Given the description of an element on the screen output the (x, y) to click on. 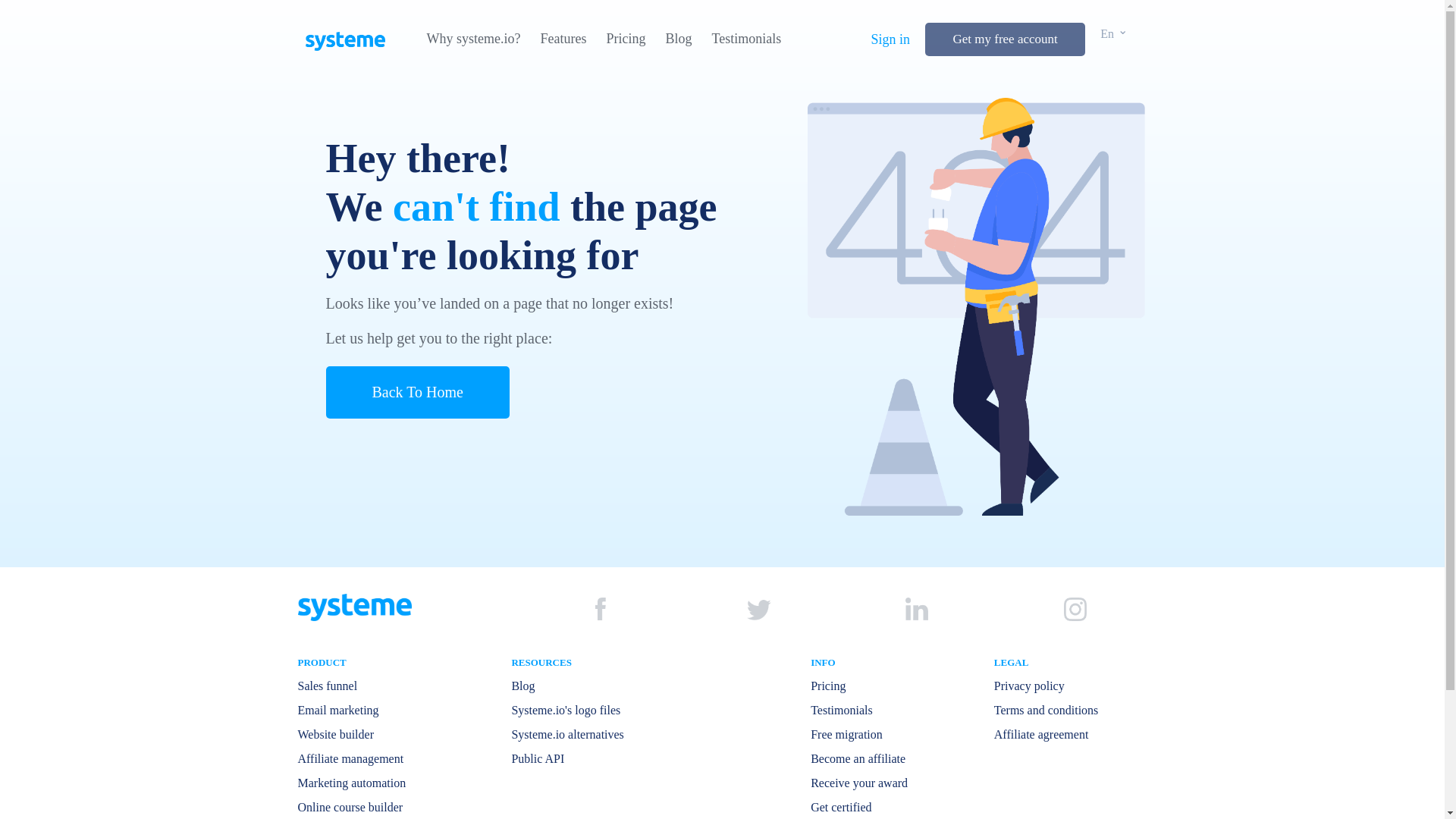
Why systeme.io? (472, 38)
Pricing (625, 38)
Get my free account (1004, 39)
Features (563, 38)
Sign in (890, 39)
Blog (678, 38)
Testimonials (745, 38)
